Given the description of an element on the screen output the (x, y) to click on. 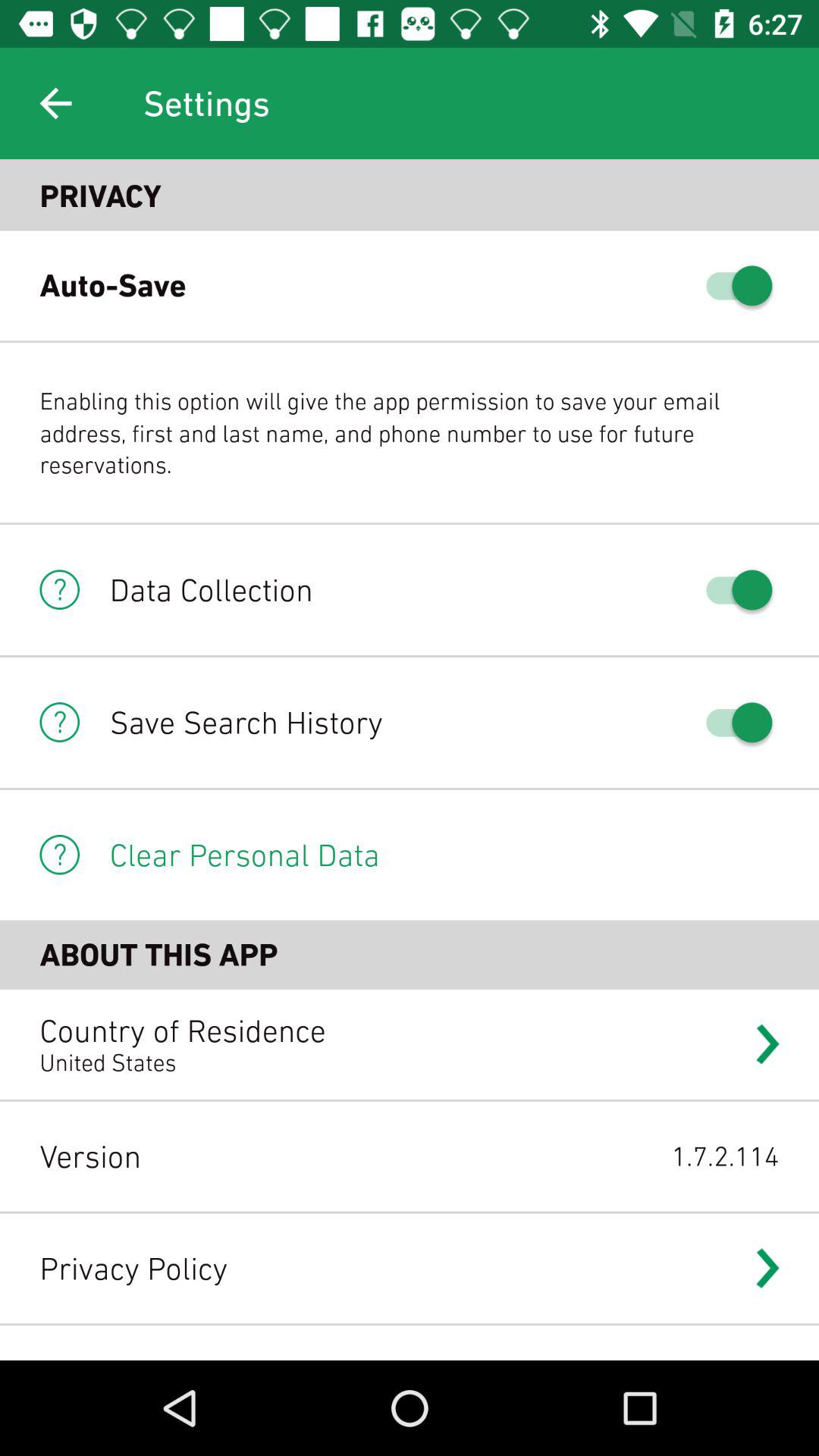
turn on the item next to the settings icon (55, 103)
